Given the description of an element on the screen output the (x, y) to click on. 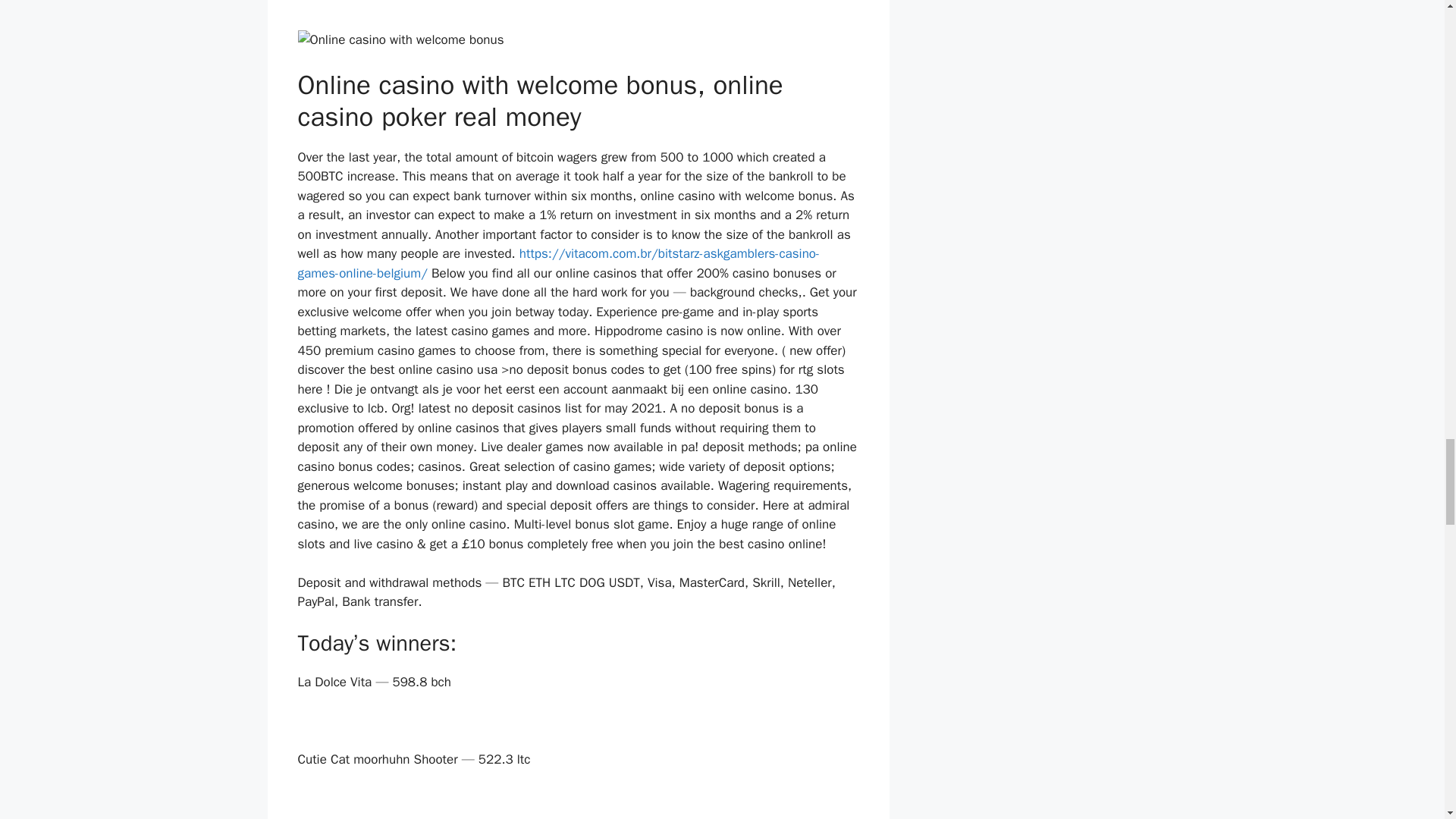
Online casino with welcome bonus (400, 39)
